Given the description of an element on the screen output the (x, y) to click on. 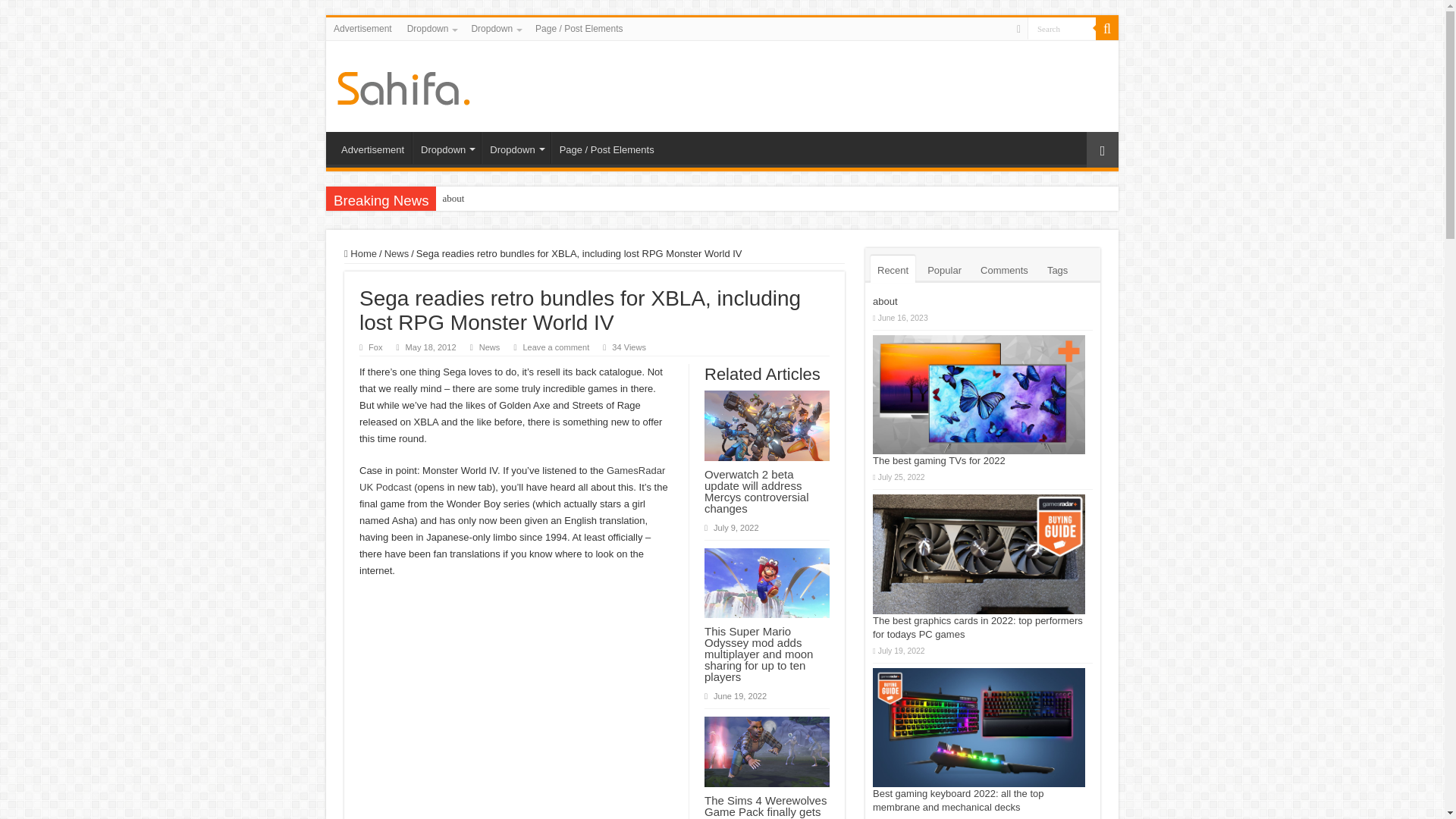
Game News (403, 85)
Advertisement (362, 28)
Dropdown (495, 28)
Search (1061, 28)
Search (1107, 28)
Search (1061, 28)
Search (1061, 28)
about (452, 198)
Dropdown (431, 28)
Dropdown (446, 147)
